Given the description of an element on the screen output the (x, y) to click on. 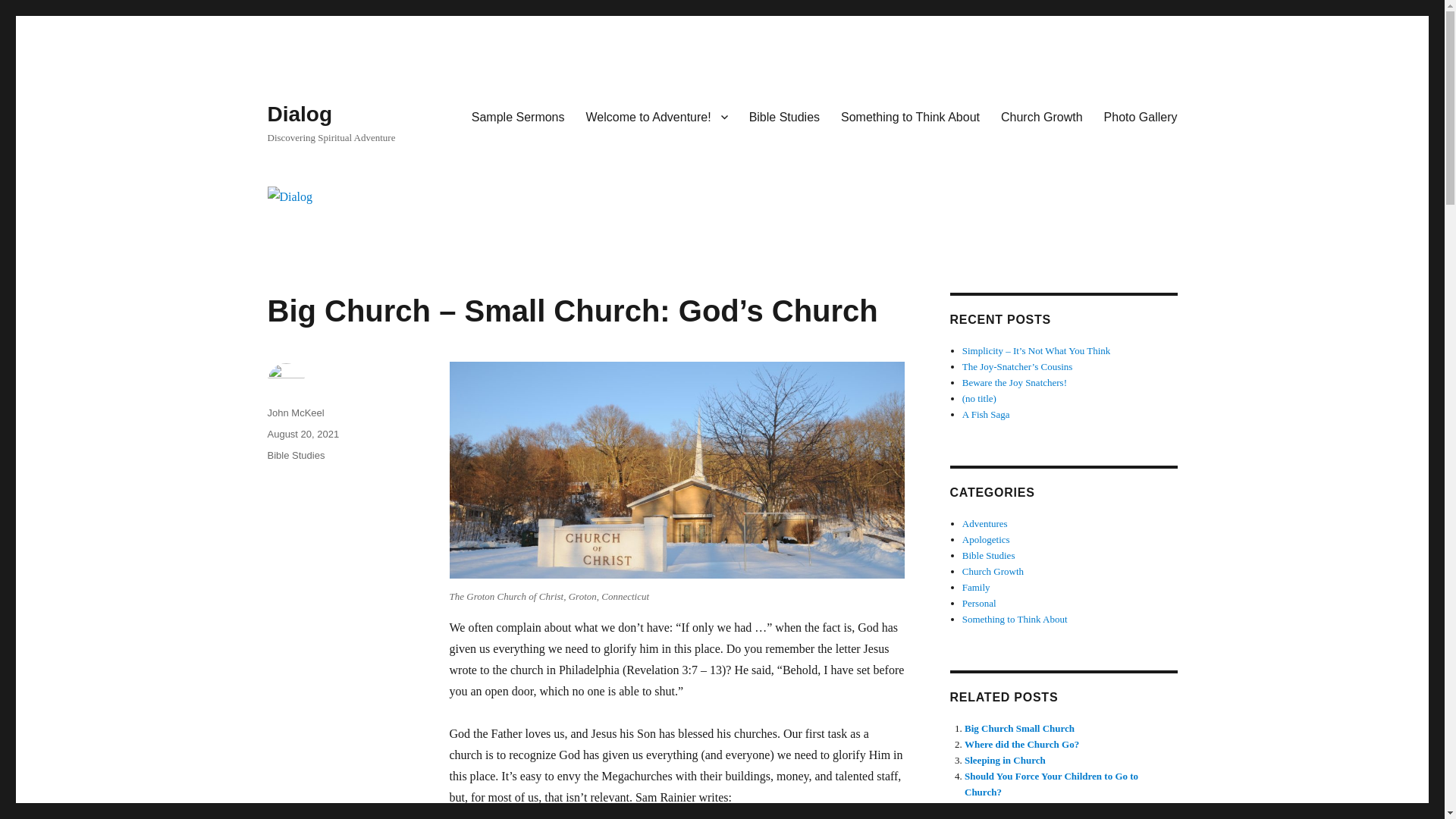
John McKeel (294, 412)
Something to Think About (909, 116)
Personal (978, 603)
Adventures (984, 523)
Church Growth (992, 571)
August 20, 2021 (302, 433)
Church Growth (1041, 116)
Bible Studies (295, 455)
Bible Studies (988, 555)
Photo Gallery (1140, 116)
